Given the description of an element on the screen output the (x, y) to click on. 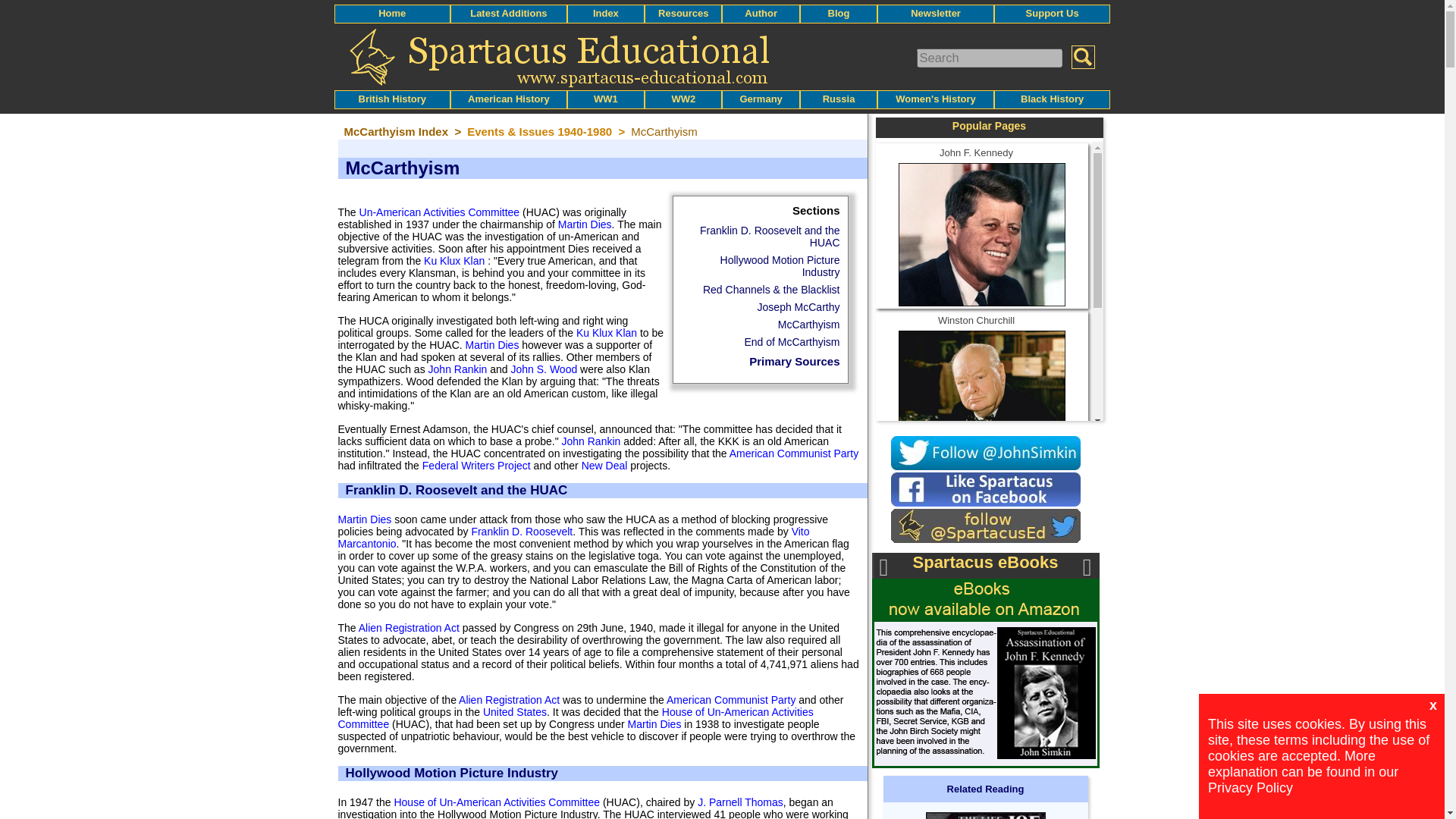
Author (760, 12)
WW2 (683, 98)
End of McCarthyism (792, 341)
Germany (760, 98)
John Rankin (457, 369)
Index (605, 12)
Russia (839, 98)
Un-American Activities Committee (439, 212)
Women's History (935, 98)
American History (508, 98)
Black History (1051, 98)
McCarthyism (808, 324)
WW1 (605, 98)
Martin Dies (584, 224)
Blog (839, 12)
